Given the description of an element on the screen output the (x, y) to click on. 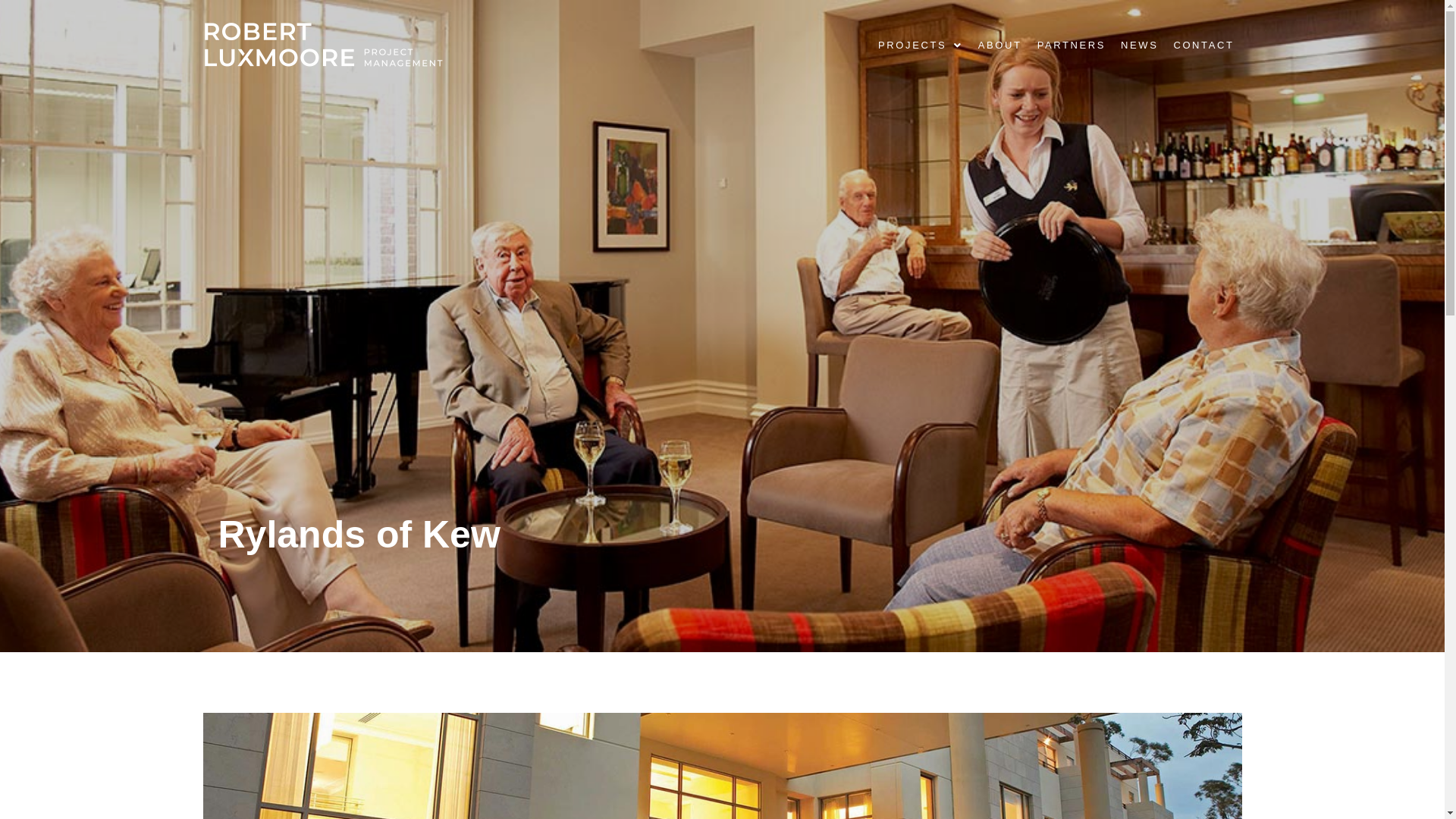
PROJECTS Element type: text (920, 44)
CONTACT Element type: text (1203, 44)
NEWS Element type: text (1139, 44)
ABOUT Element type: text (999, 44)
PARTNERS Element type: text (1071, 44)
